Given the description of an element on the screen output the (x, y) to click on. 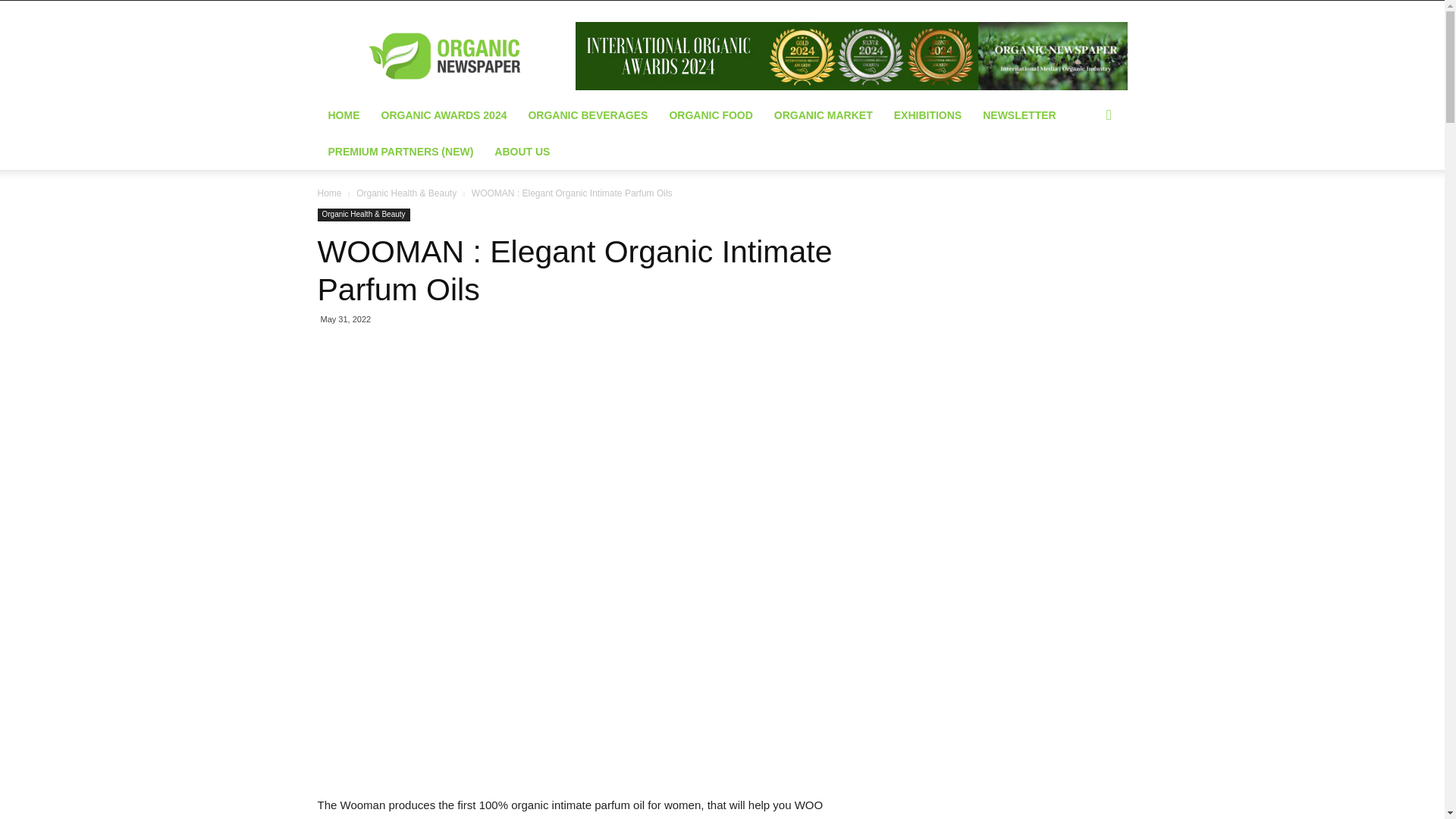
ORGANIC AWARDS 2024 (442, 115)
ORGANIC BEVERAGES (587, 115)
HOME (343, 115)
Organic Newspaper (445, 56)
